Given the description of an element on the screen output the (x, y) to click on. 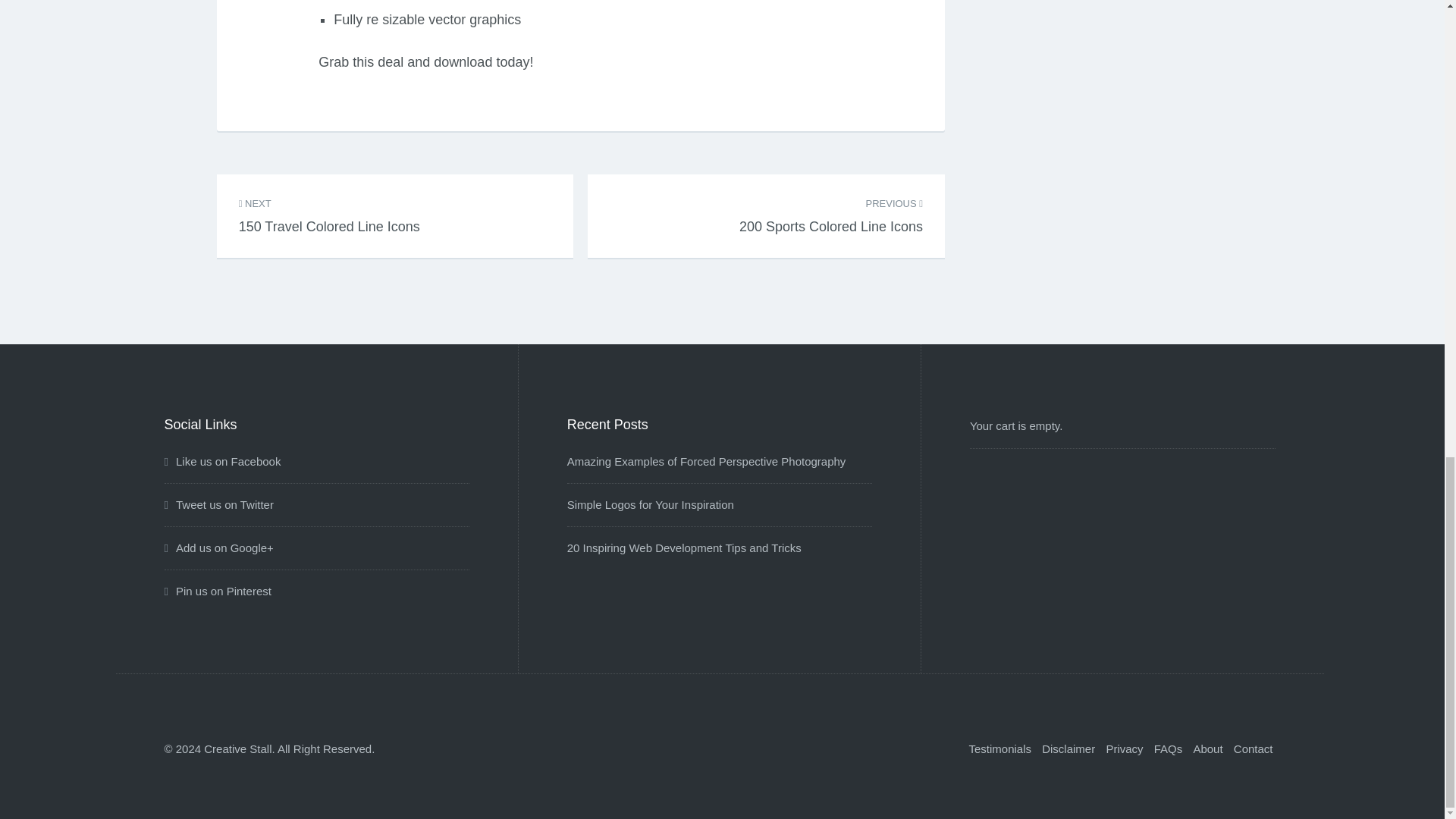
Pin us on Pinterest (216, 590)
20 Inspiring Web Development Tips and Tricks (684, 547)
Simple Logos for Your Inspiration (831, 206)
Testimonials (329, 206)
Amazing Examples of Forced Perspective Photography (650, 504)
Like us on Facebook (999, 748)
Tweet us on Twitter (706, 461)
